Given the description of an element on the screen output the (x, y) to click on. 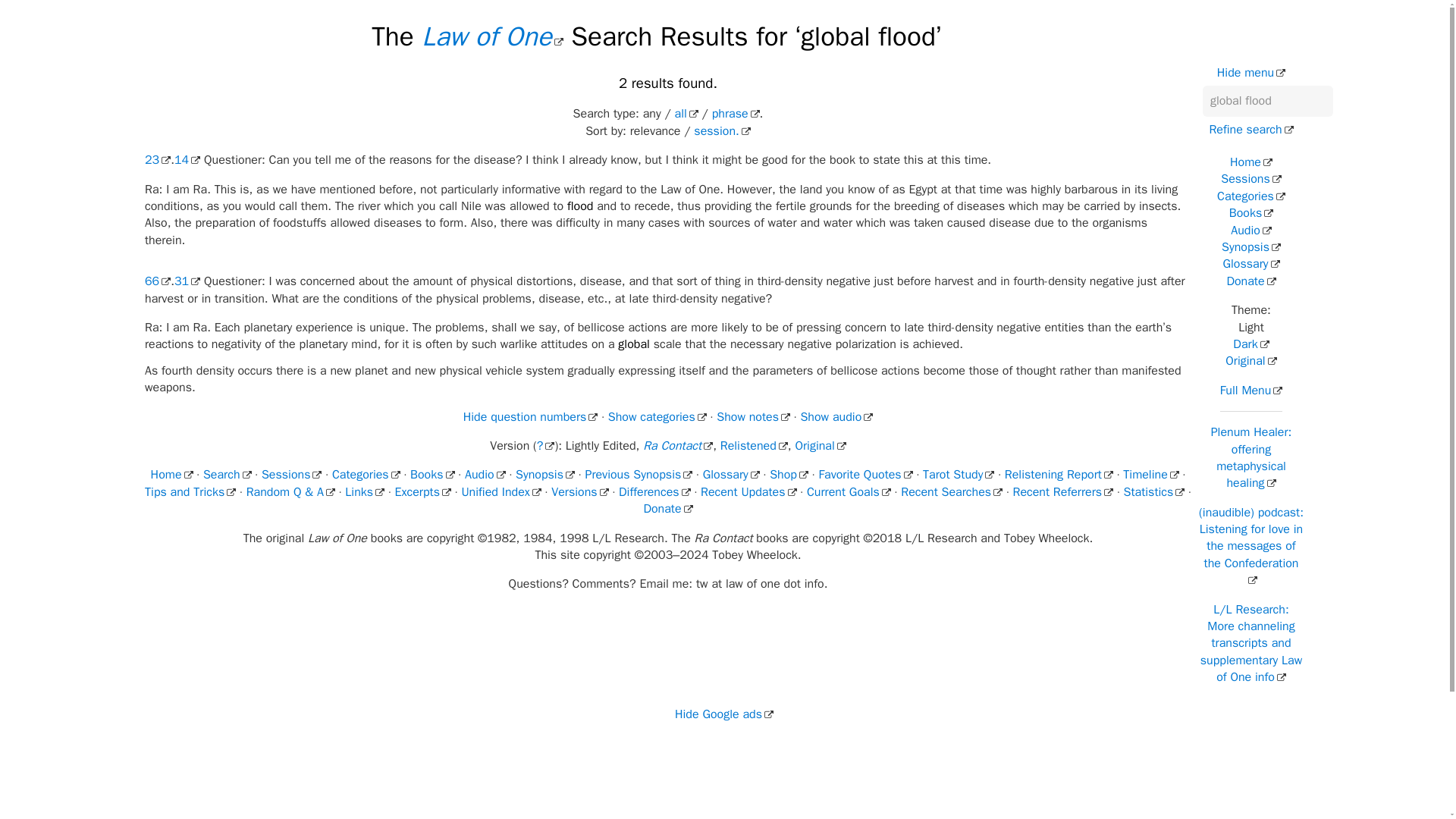
? (545, 445)
Sessions (291, 474)
Previous Synopsis (639, 474)
23 (157, 159)
Show notes (753, 417)
Show categories (657, 417)
14 (187, 159)
Home (172, 474)
Ra Contact (678, 445)
Books (432, 474)
